Given the description of an element on the screen output the (x, y) to click on. 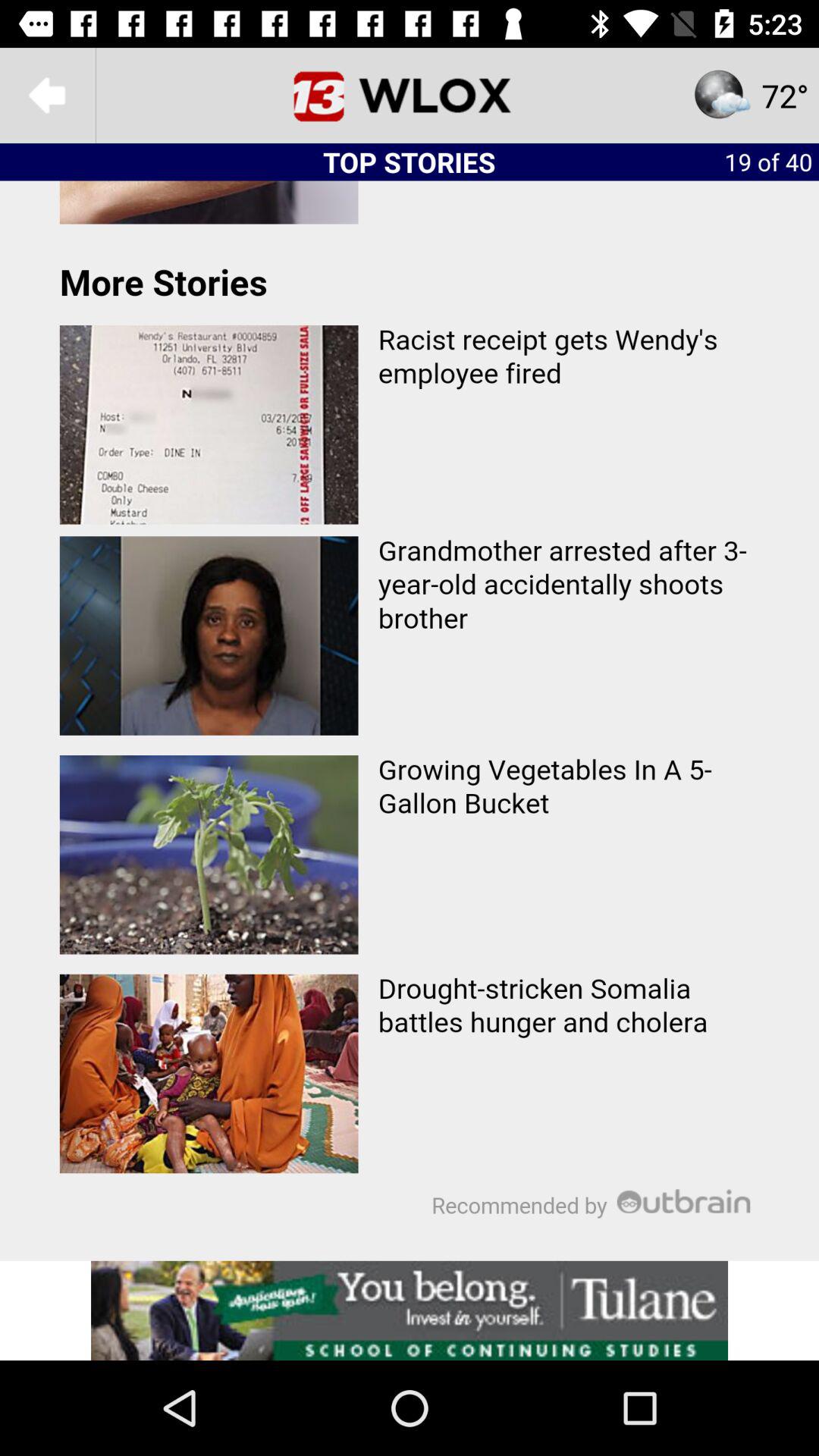
go back (47, 95)
